Given the description of an element on the screen output the (x, y) to click on. 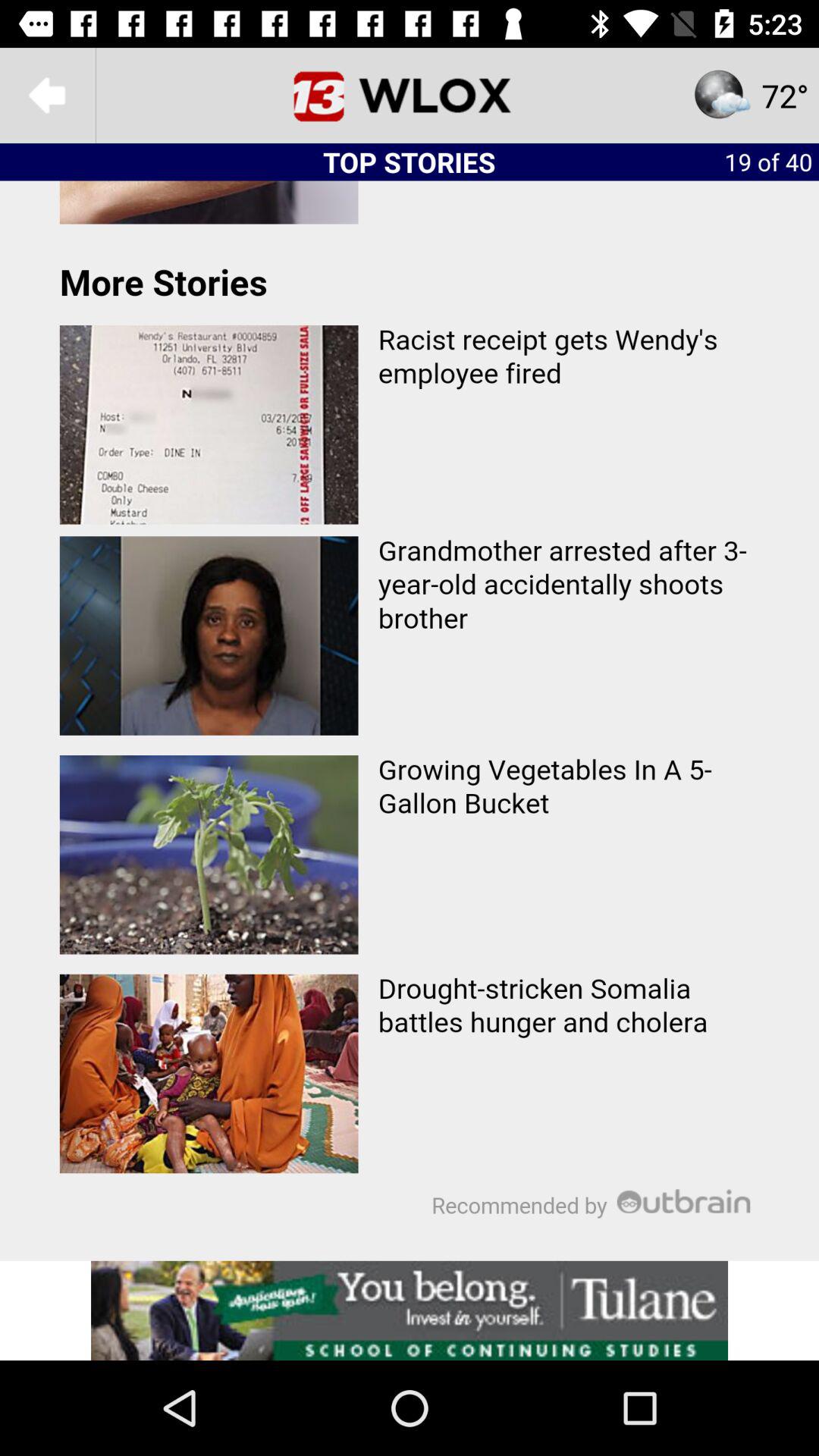
go back (47, 95)
